Given the description of an element on the screen output the (x, y) to click on. 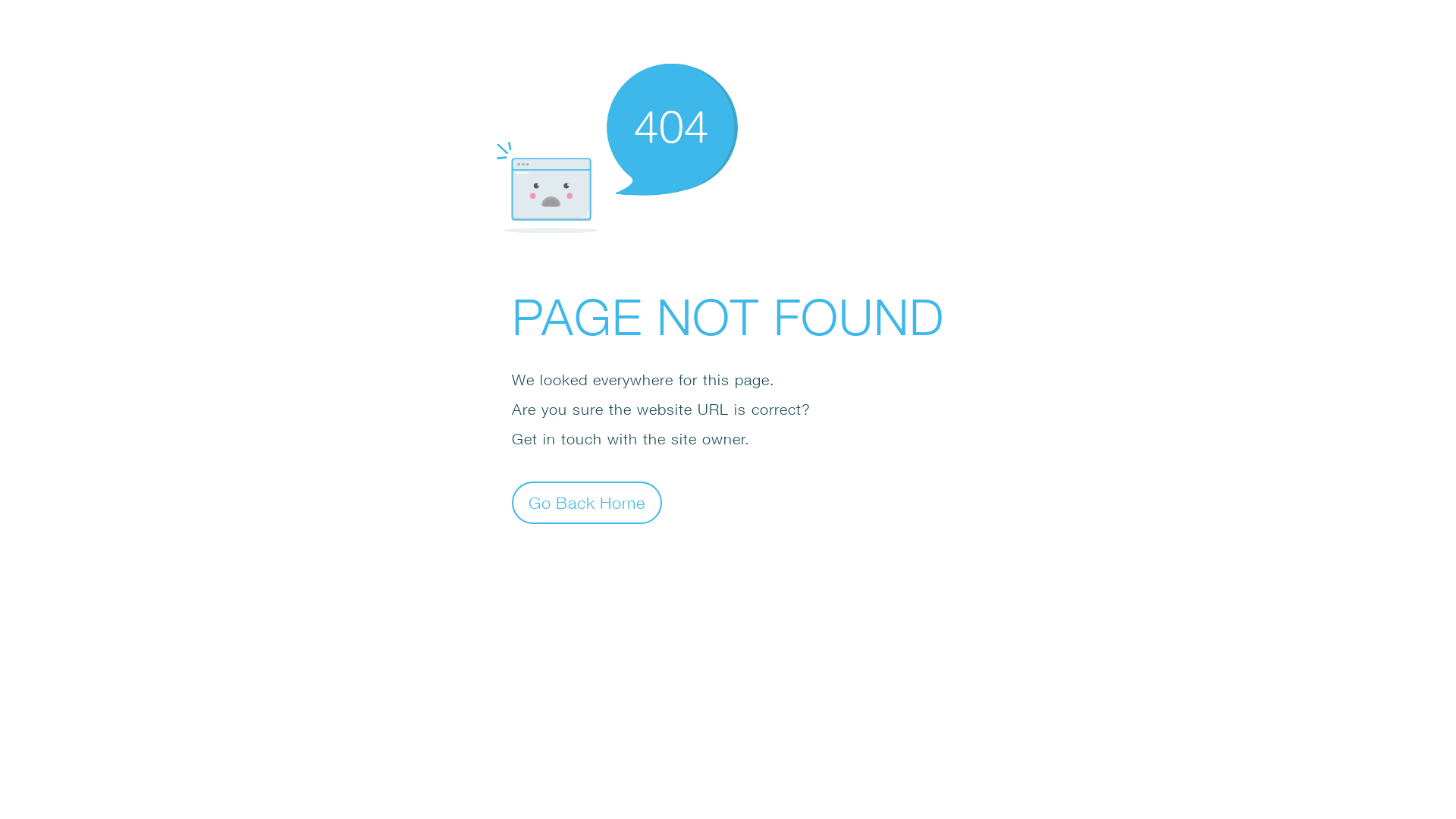
Go Back Home Element type: text (586, 502)
